Given the description of an element on the screen output the (x, y) to click on. 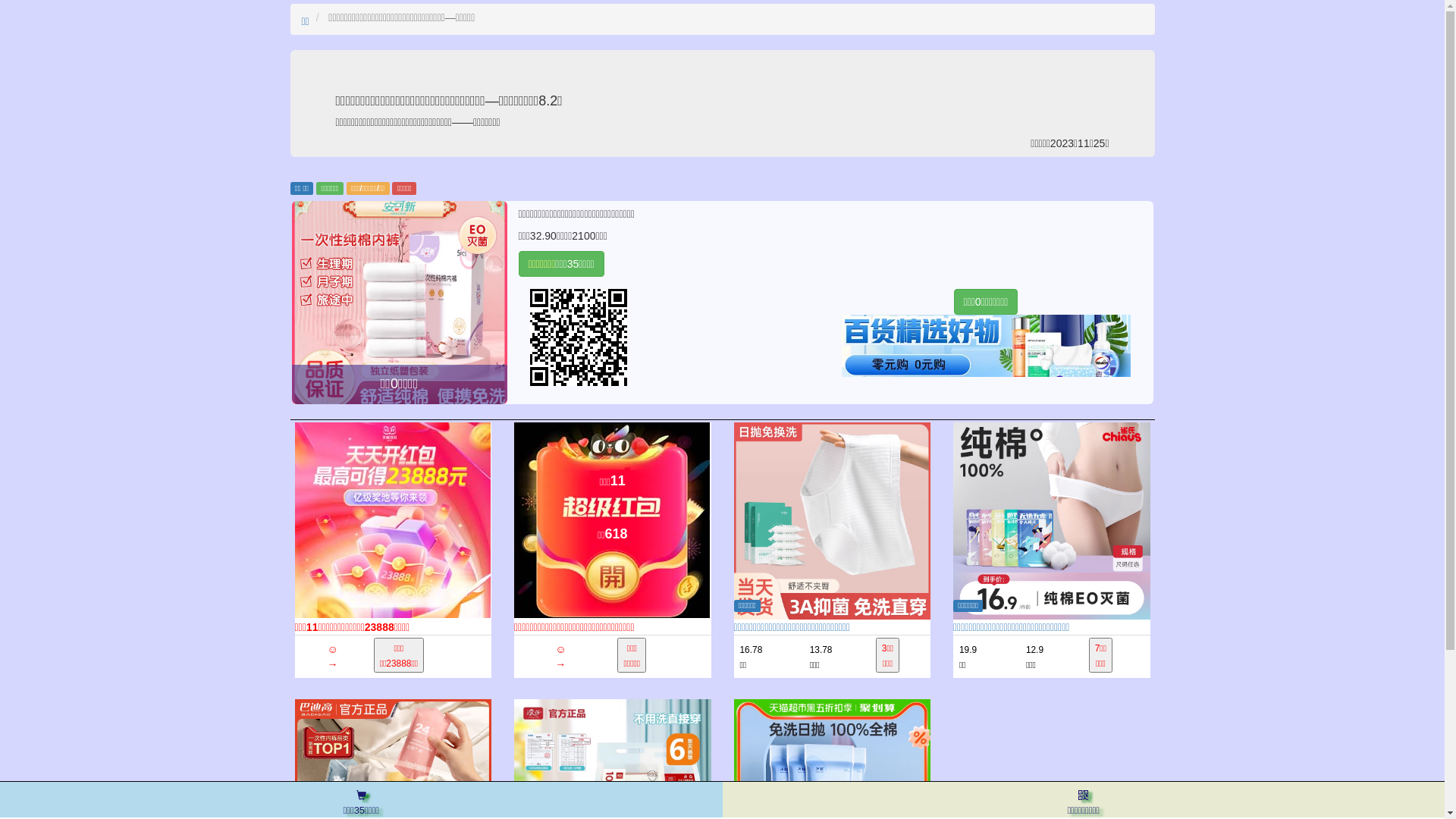
https://s.click.taobao.com/GIA4C5u Element type: hover (674, 336)
